Given the description of an element on the screen output the (x, y) to click on. 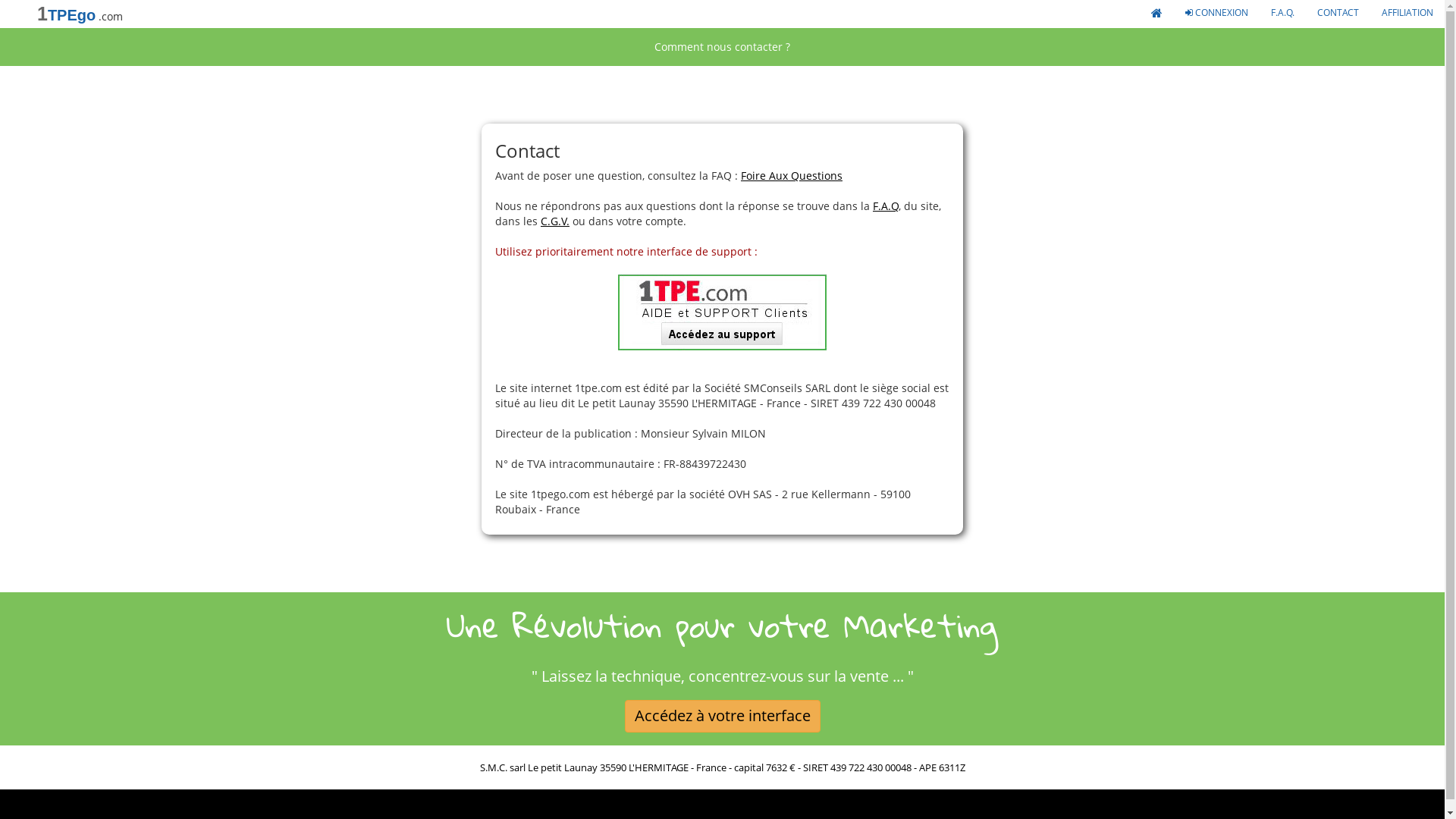
CONNEXION Element type: text (1216, 10)
C.G.V. Element type: text (554, 220)
Foire Aux Questions Element type: text (791, 175)
AFFILIATION Element type: text (1407, 10)
F.A.Q. Element type: text (1282, 10)
F.A.Q Element type: text (885, 205)
CONTACT Element type: text (1337, 10)
